Given the description of an element on the screen output the (x, y) to click on. 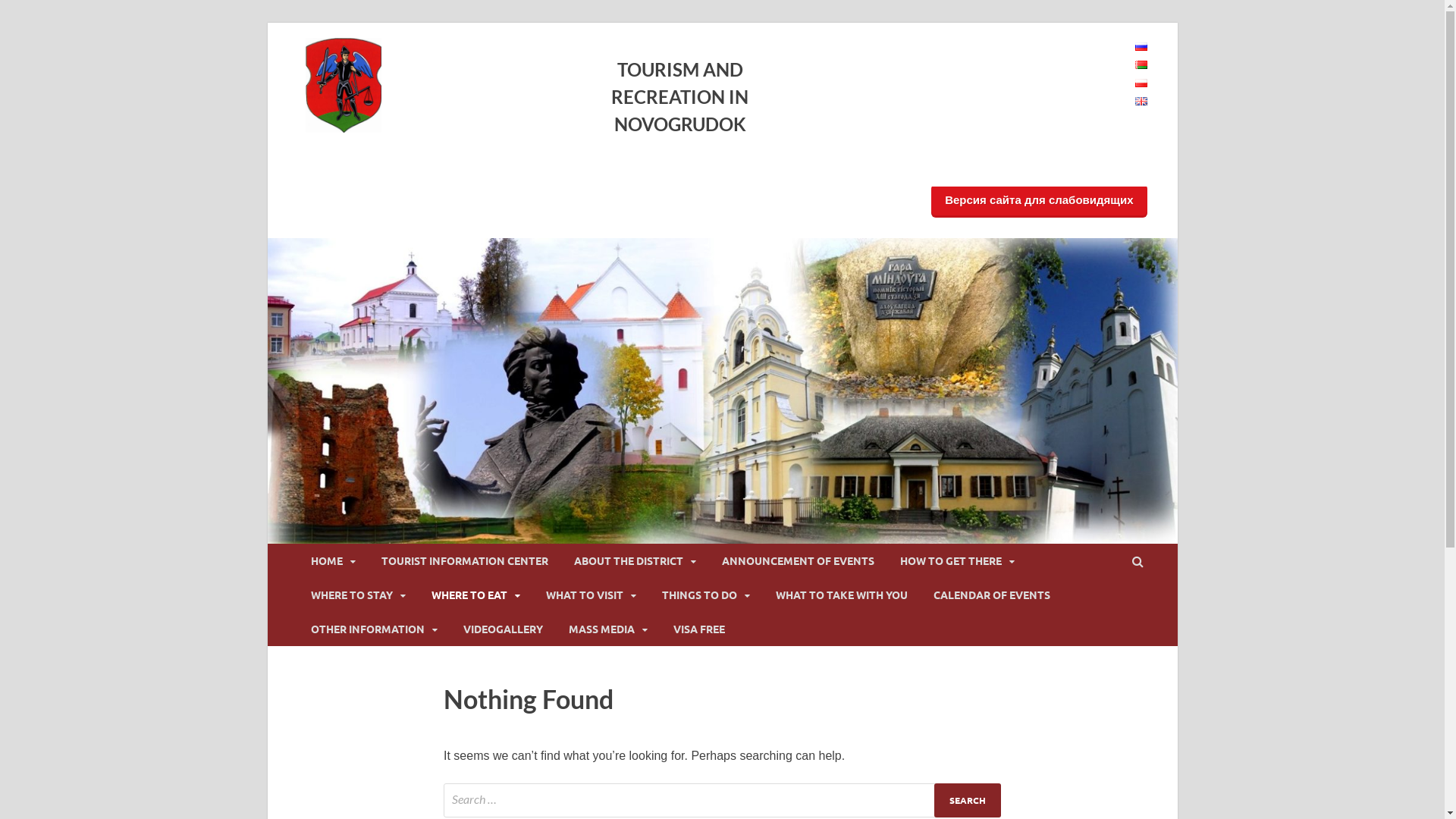
HOW TO GET THERE Element type: text (957, 560)
WHAT TO VISIT Element type: text (590, 594)
WHERE TO STAY Element type: text (357, 594)
WHAT TO TAKE WITH YOU Element type: text (841, 594)
HOME Element type: text (332, 560)
ABOUT THE DISTRICT Element type: text (635, 560)
VISA FREE Element type: text (698, 628)
MASS MEDIA Element type: text (607, 628)
Search Element type: text (967, 800)
CALENDAR OF EVENTS Element type: text (991, 594)
English Element type: hover (1140, 101)
THINGS TO DO Element type: text (705, 594)
Polski Element type: hover (1140, 82)
WHERE TO EAT Element type: text (475, 594)
ANNOUNCEMENT OF EVENTS Element type: text (797, 560)
OTHER INFORMATION Element type: text (373, 628)
VIDEOGALLERY Element type: text (502, 628)
TOURIST INFORMATION CENTER Element type: text (464, 560)
